Given the description of an element on the screen output the (x, y) to click on. 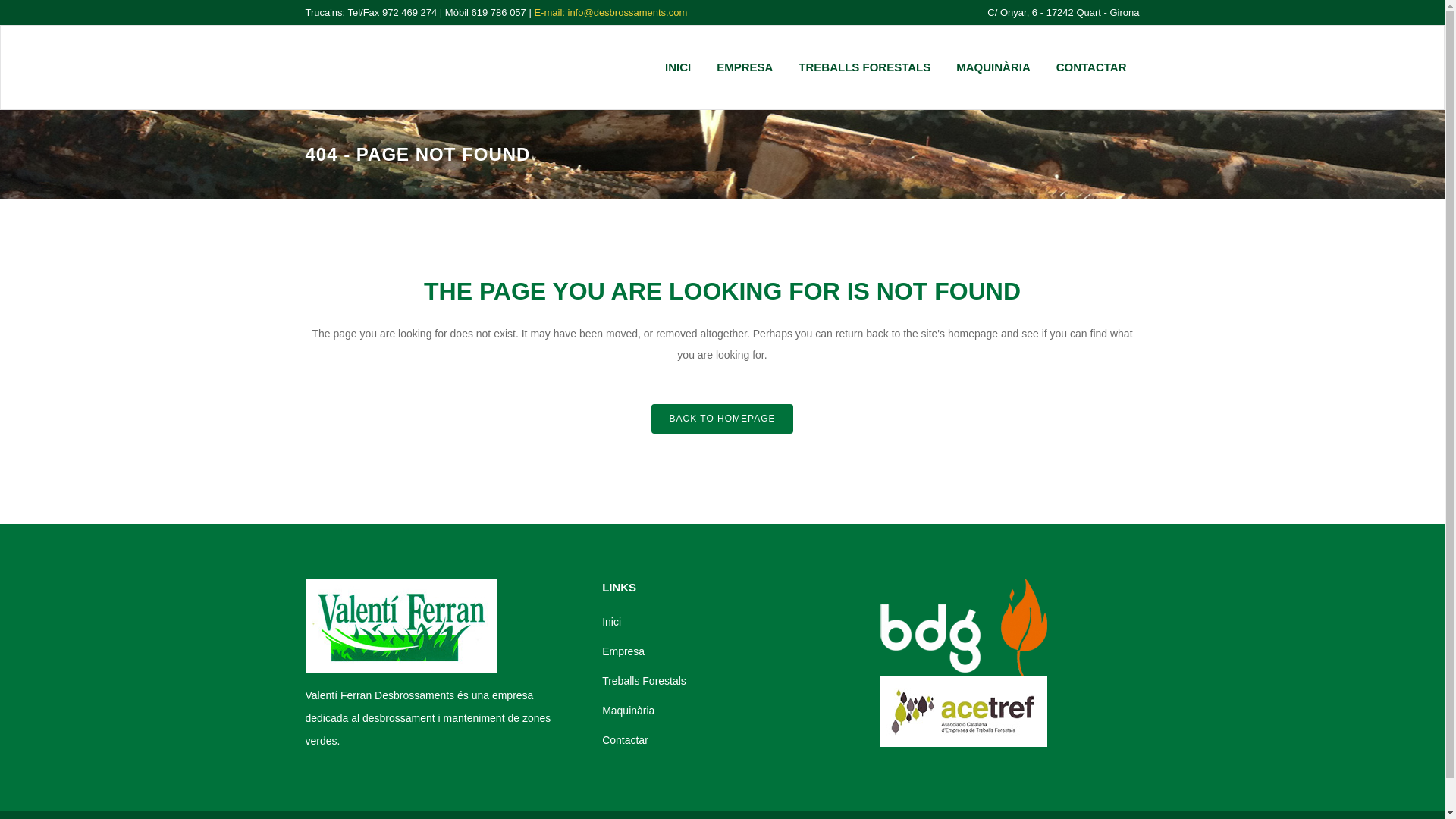
CONTACTAR (1091, 66)
Empresa (729, 651)
Treballs Forestals (729, 680)
EMPRESA (744, 66)
TREBALLS FORESTALS (864, 66)
Contactar (729, 740)
Inici (729, 621)
BACK TO HOMEPAGE (721, 419)
